Given the description of an element on the screen output the (x, y) to click on. 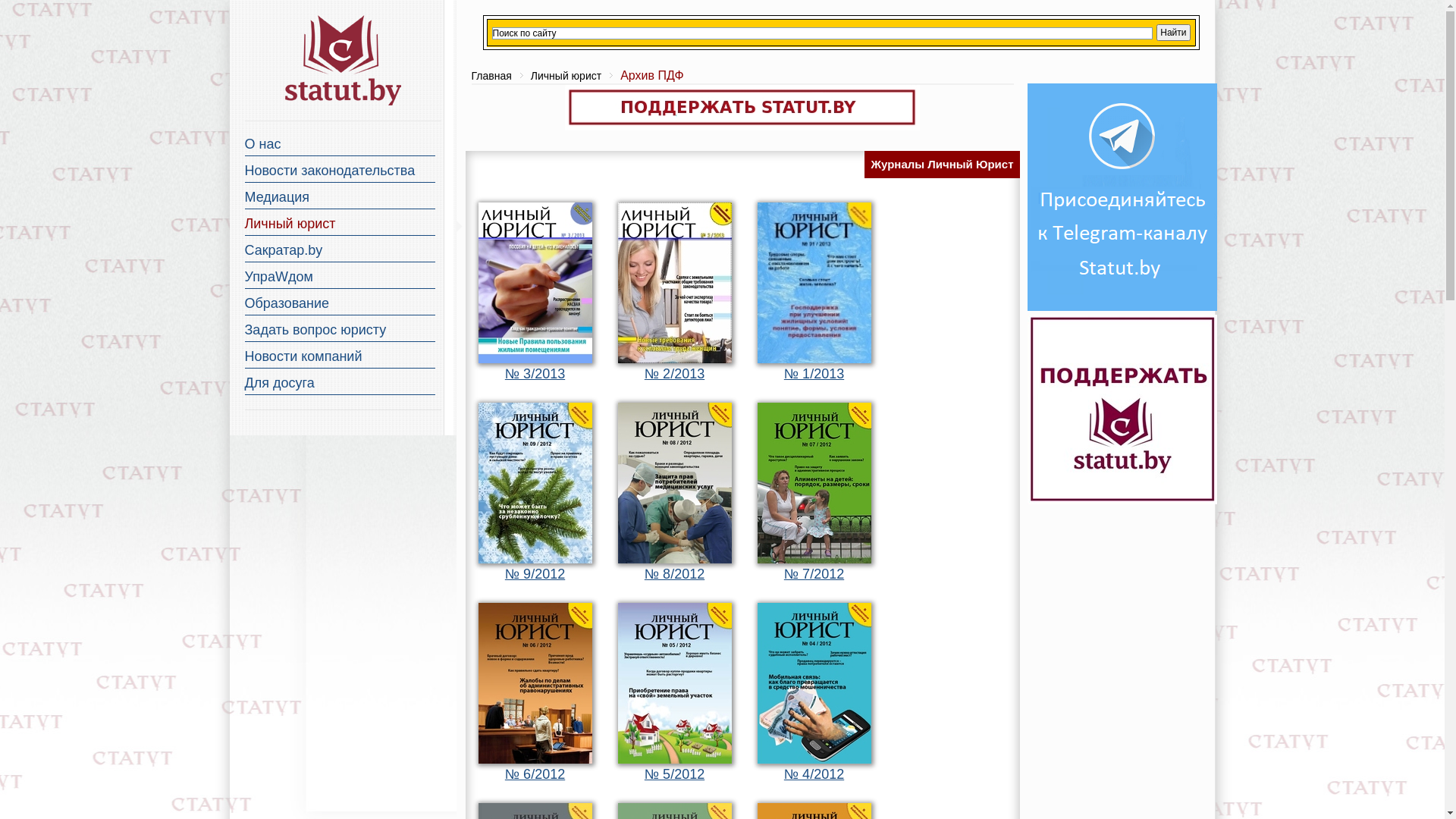
Telegram Element type: hover (1121, 307)
